Given the description of an element on the screen output the (x, y) to click on. 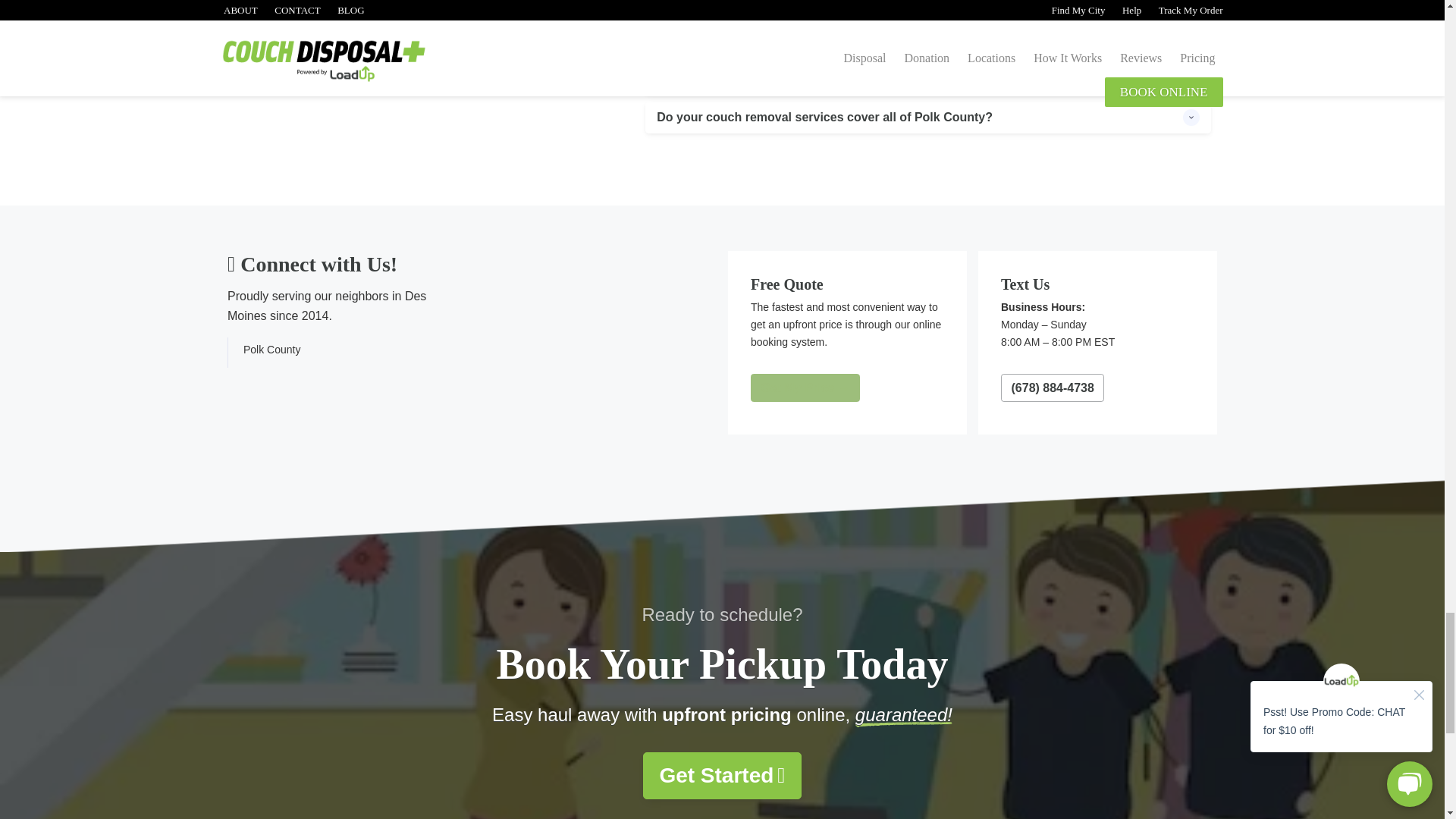
What is the total cost for couch pickup and disposal? (928, 7)
How do I schedule a couch removal pickup in Des Moines, IA? (928, 38)
Do you offer a curbside pickup option for couch removal? (928, 77)
Text Couch Disposal Plus (1052, 387)
